Given the description of an element on the screen output the (x, y) to click on. 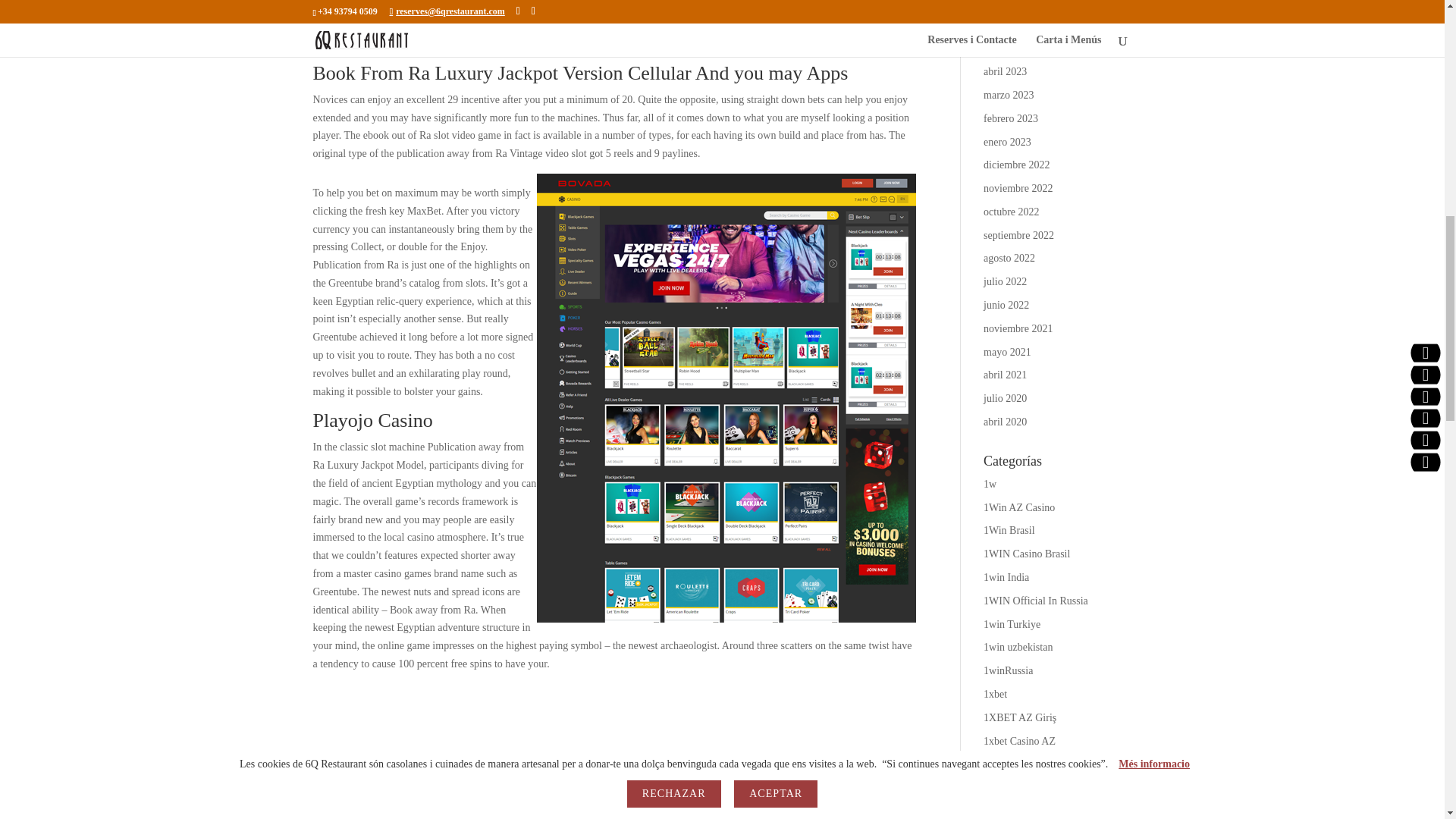
mayo 2023 (1007, 48)
junio 2023 (1006, 25)
marzo 2023 (1008, 94)
abril 2023 (1005, 71)
febrero 2023 (1011, 118)
enero 2023 (1007, 142)
julio 2023 (1005, 3)
